Given the description of an element on the screen output the (x, y) to click on. 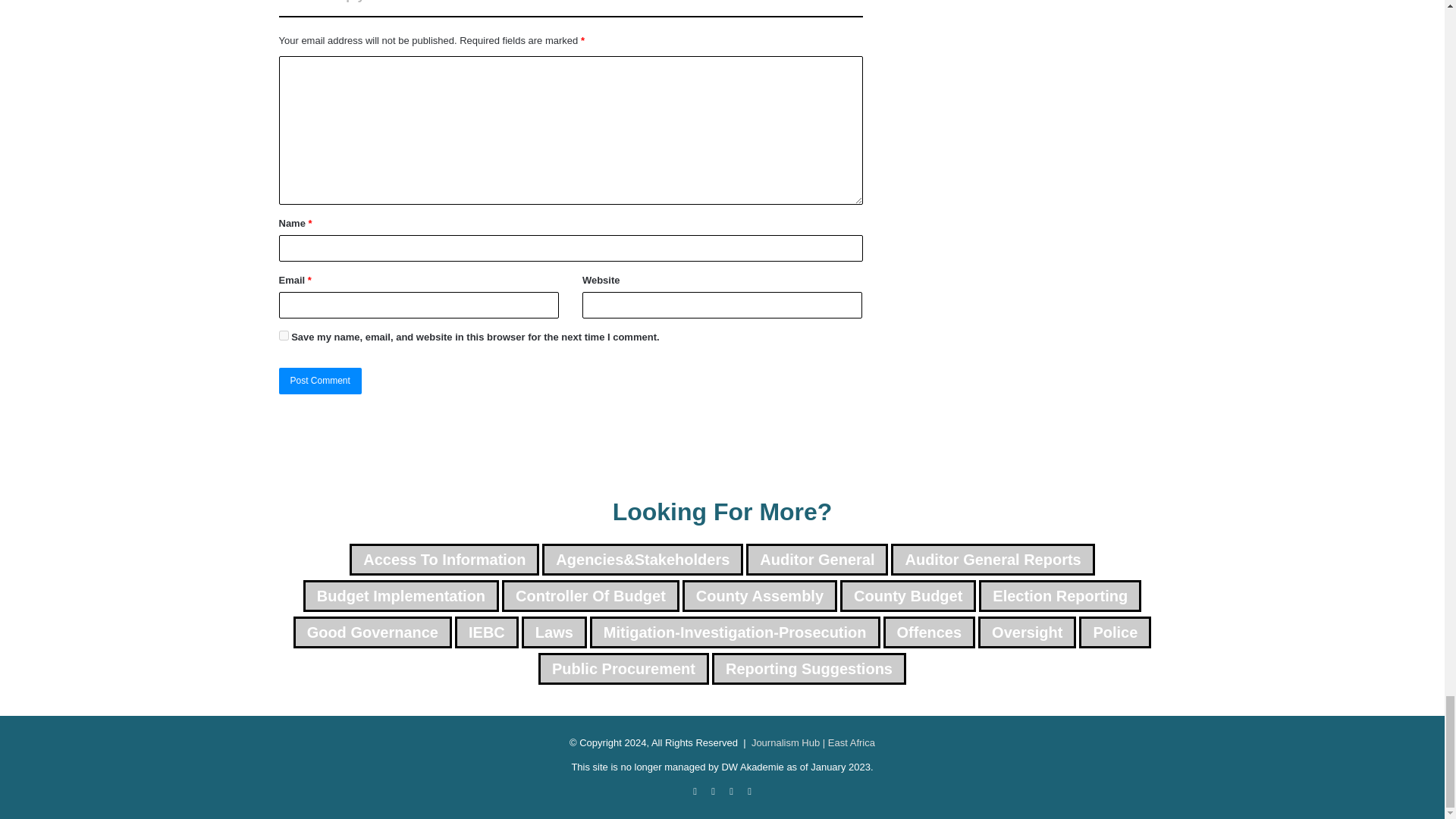
Post Comment (320, 380)
yes (283, 335)
